Given the description of an element on the screen output the (x, y) to click on. 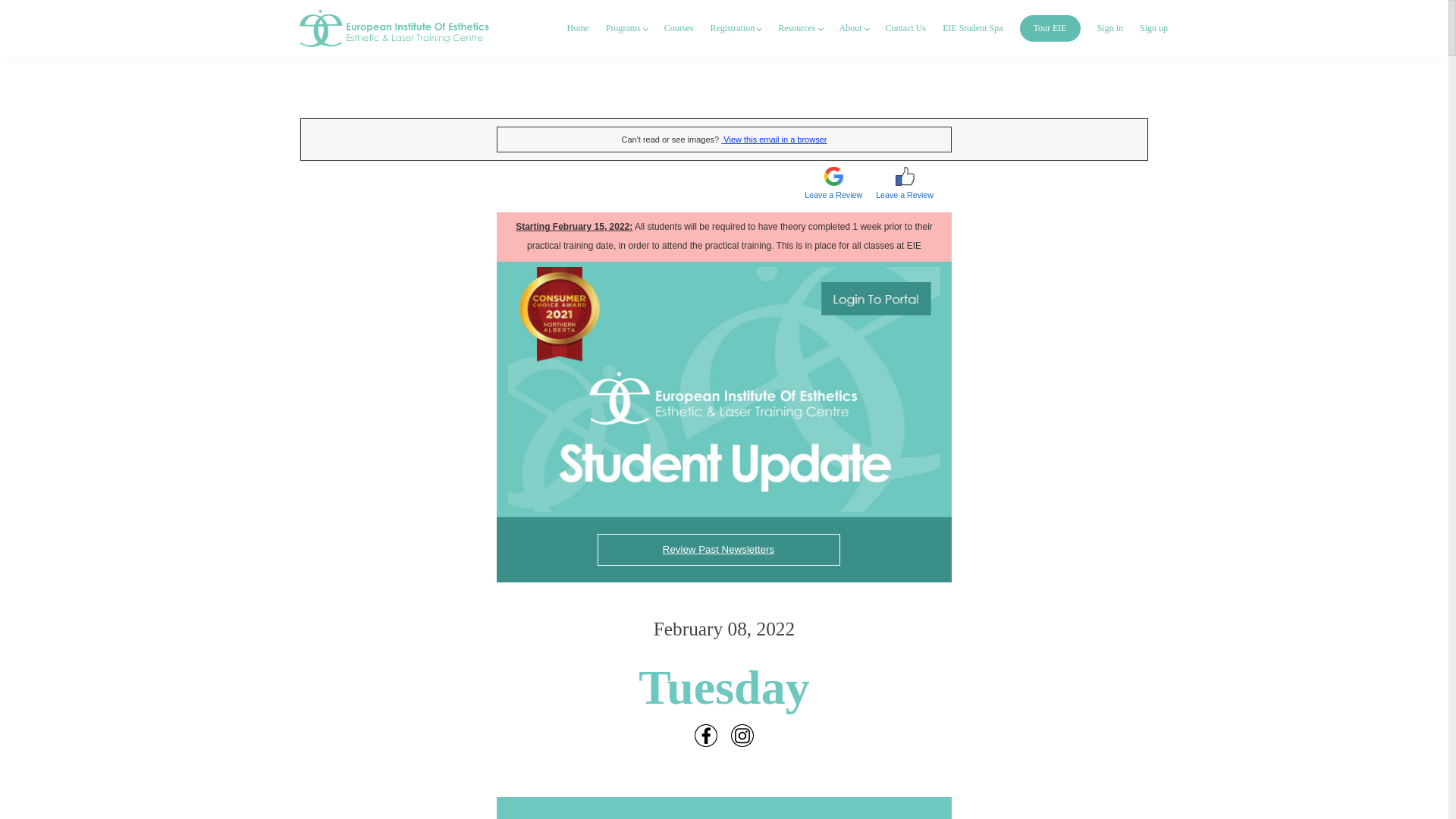
About (852, 28)
Courses (678, 28)
Home (578, 28)
